Given the description of an element on the screen output the (x, y) to click on. 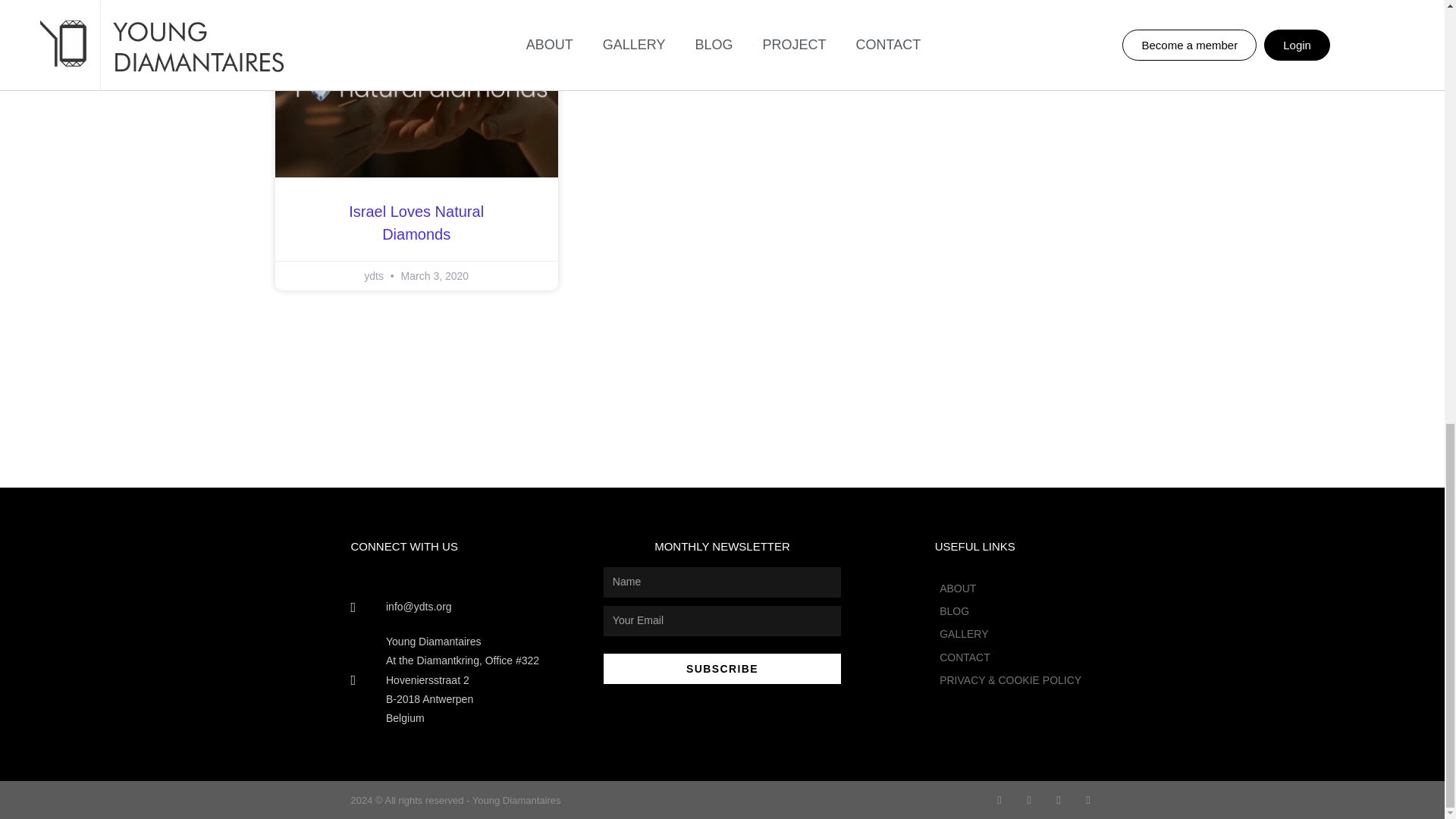
ABOUT (1010, 588)
GALLERY (1010, 633)
CONTACT (1010, 657)
Israel Loves Natural Diamonds (416, 222)
BLOG (1010, 610)
SUBSCRIBE (722, 668)
